Given the description of an element on the screen output the (x, y) to click on. 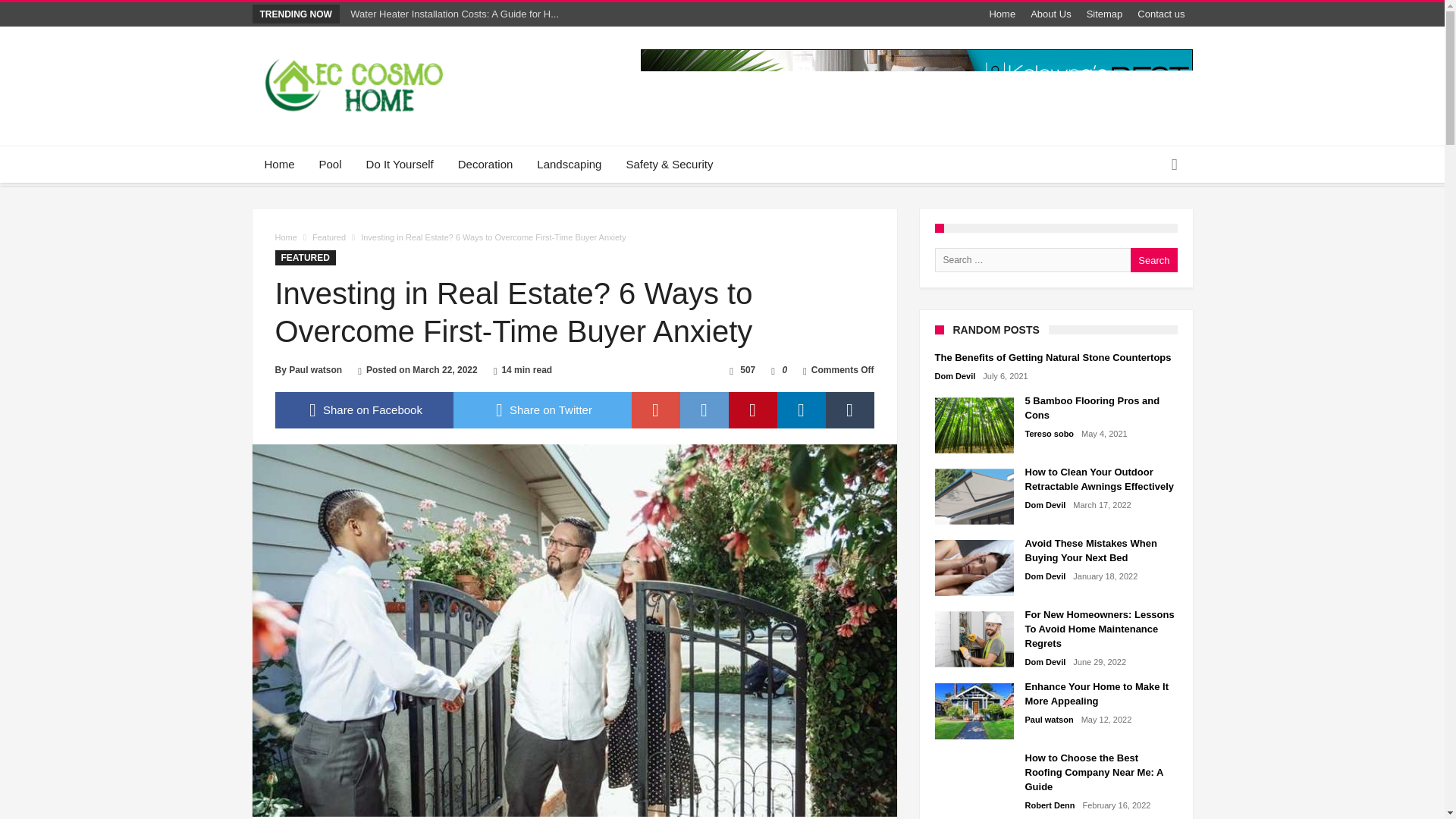
Featured (329, 236)
Landscaping (568, 164)
I like this article (772, 369)
facebook (363, 410)
pinterest (752, 410)
Share on Pinterest (752, 410)
FEATURED (304, 257)
Search (1153, 259)
Share on Twitter (541, 410)
Contact us (1160, 14)
